Given the description of an element on the screen output the (x, y) to click on. 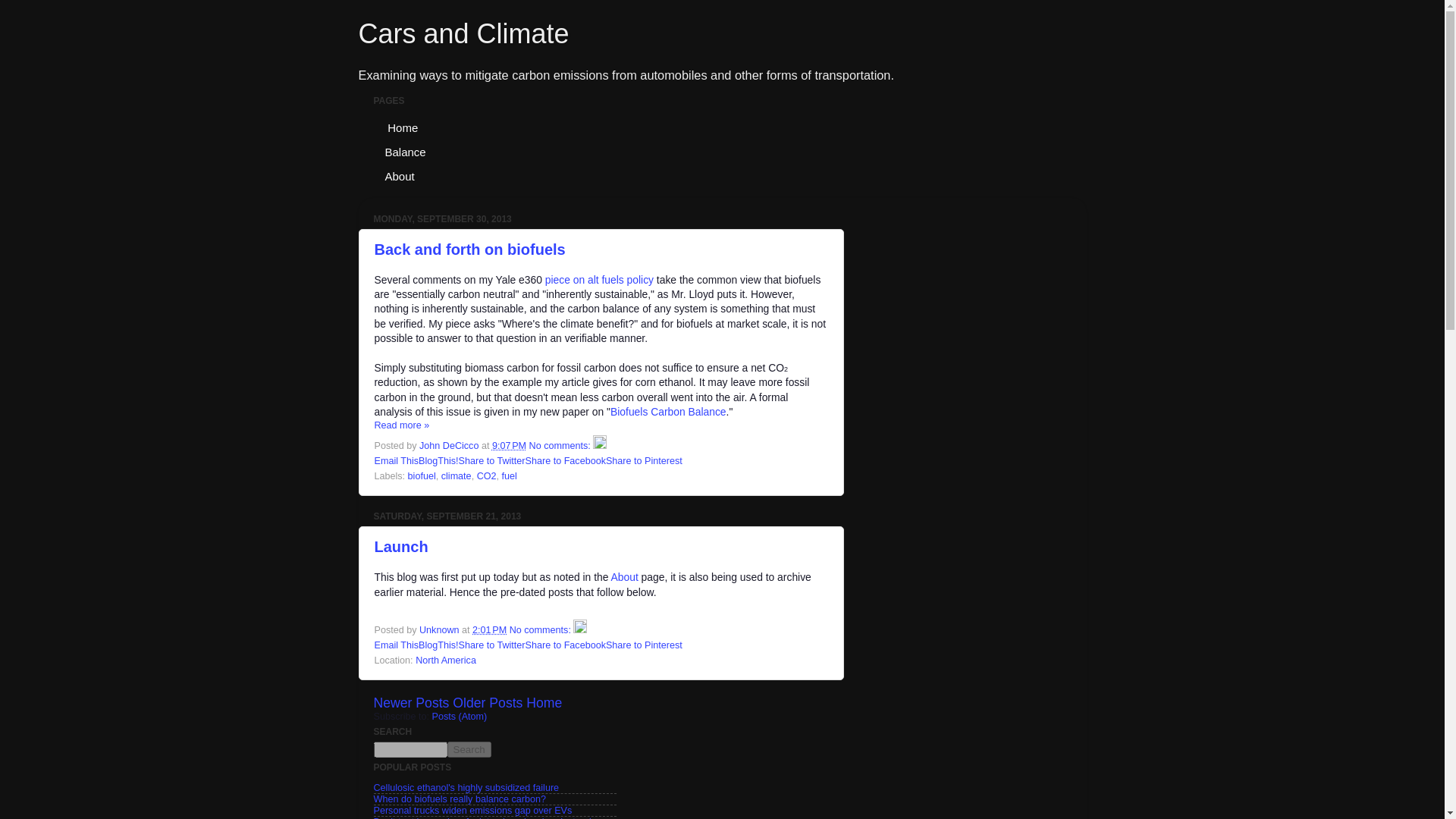
Biofuels Carbon Balance (668, 411)
Email This (396, 644)
North America (445, 660)
Home (400, 127)
Unknown (440, 629)
piece on alt fuels policy (598, 279)
author profile (440, 629)
BlogThis! (438, 460)
fuel (509, 475)
Share to Twitter (491, 460)
